Given the description of an element on the screen output the (x, y) to click on. 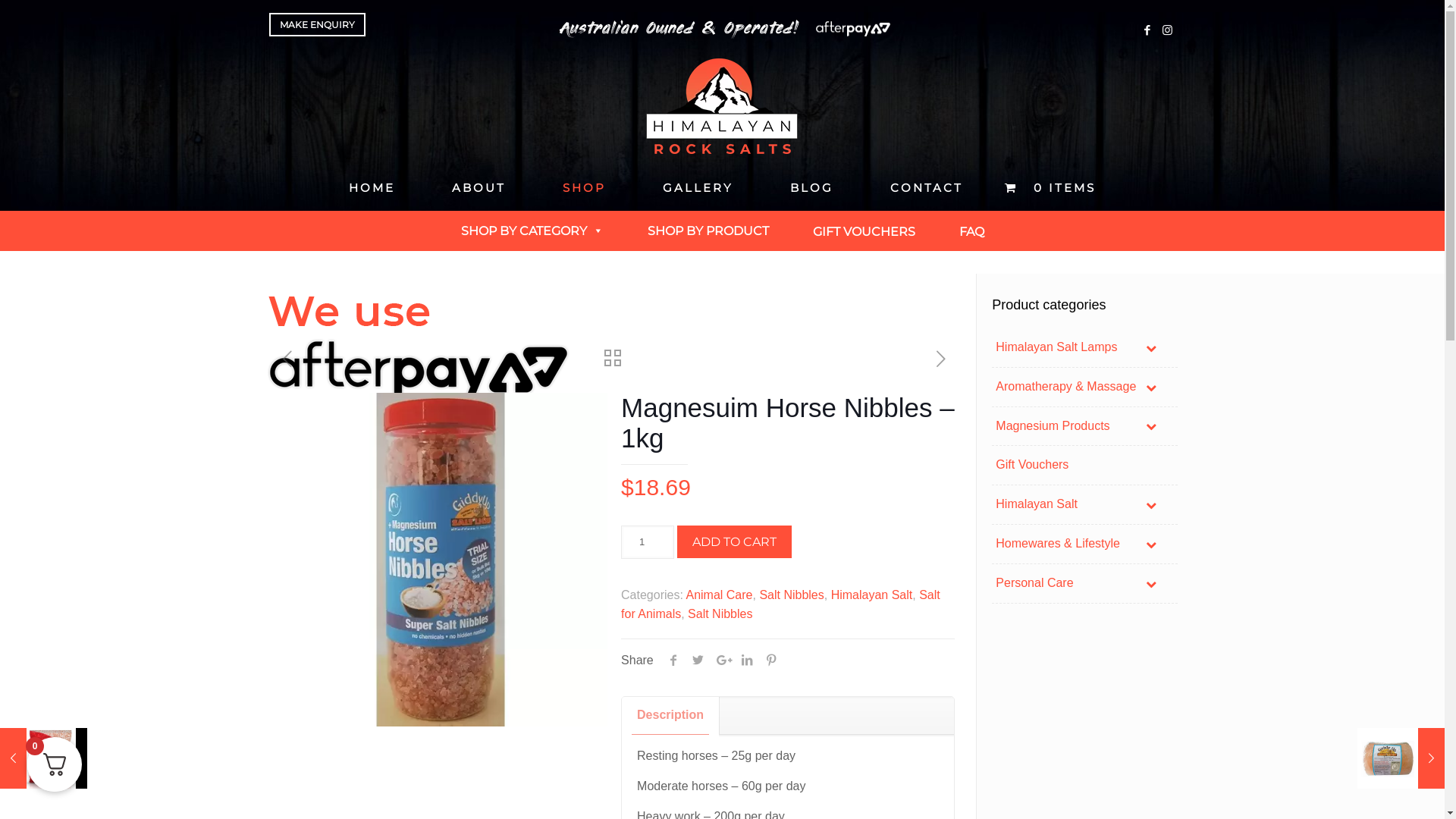
Himalayan Salt Element type: text (872, 594)
MAKE ENQUIRY Element type: text (317, 24)
0 ITEMS Element type: text (1057, 187)
HOME Element type: text (372, 187)
SHOP BY PRODUCT Element type: text (707, 230)
BLOG Element type: text (812, 187)
GALLERY Element type: text (698, 187)
ADD TO CART Element type: text (734, 541)
FAQ Element type: text (971, 230)
Personal Care Element type: text (1083, 583)
Animal Care Element type: text (718, 594)
Homewares & Lifestyle Element type: text (1083, 543)
Facebook Element type: hover (1146, 29)
SHOP Element type: text (584, 187)
Magnesuim Horse Nibbles Element type: hover (440, 559)
GIFT VOUCHERS Element type: text (863, 230)
Himalayan Rock Salts Element type: hover (721, 106)
Description Element type: text (669, 715)
Aromatherapy & Massage Element type: text (1083, 386)
SHOP BY CATEGORY Element type: text (531, 230)
Instagram Element type: hover (1167, 29)
Salt Nibbles Element type: text (719, 613)
Salt for Animals Element type: text (780, 604)
Himalayan Salt Element type: text (1083, 504)
Gift Vouchers Element type: text (1083, 464)
ABOUT Element type: text (478, 187)
CONTACT Element type: text (927, 187)
Salt Nibbles Element type: text (791, 594)
